Given the description of an element on the screen output the (x, y) to click on. 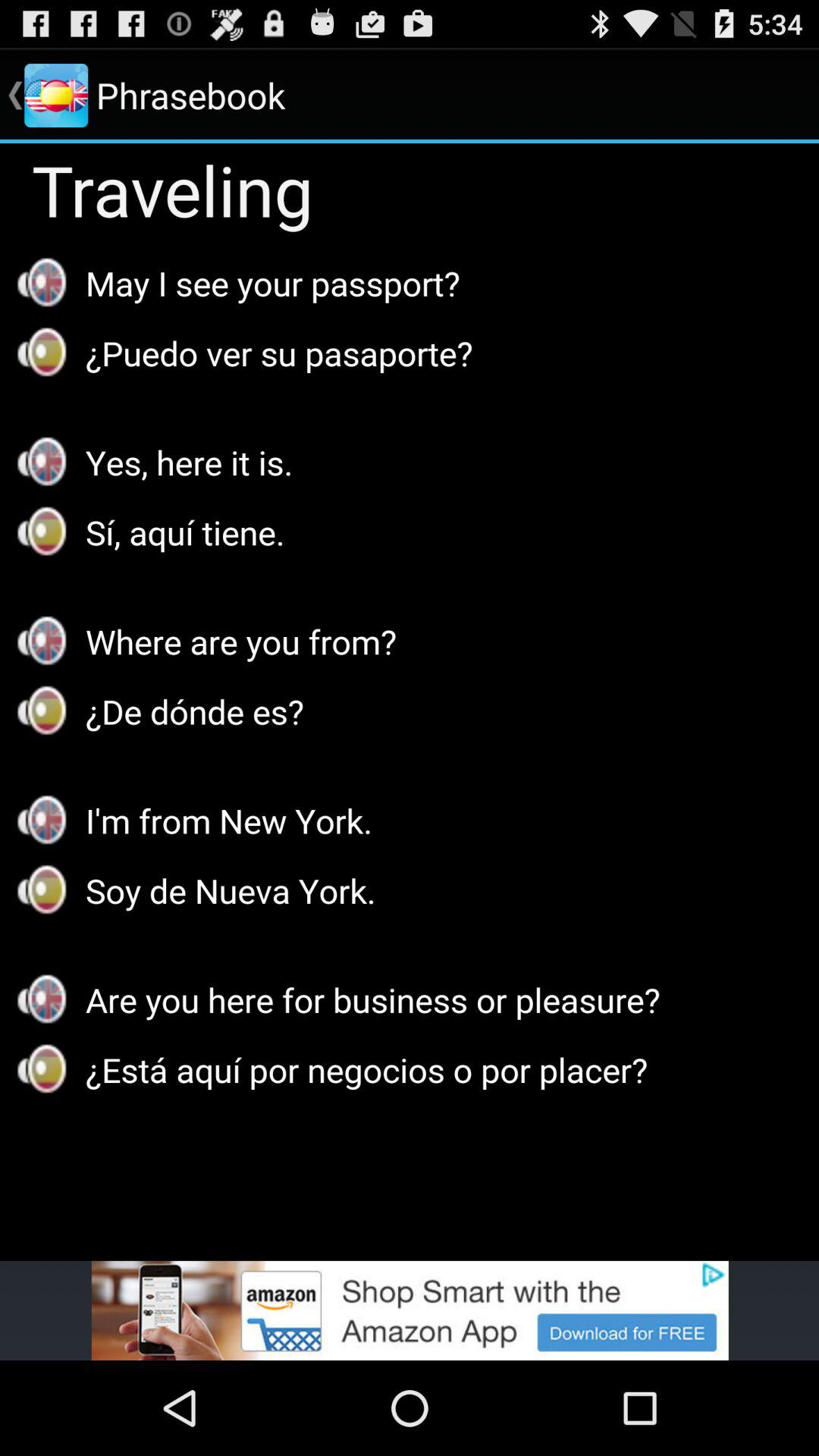
close the app (409, 1310)
